Given the description of an element on the screen output the (x, y) to click on. 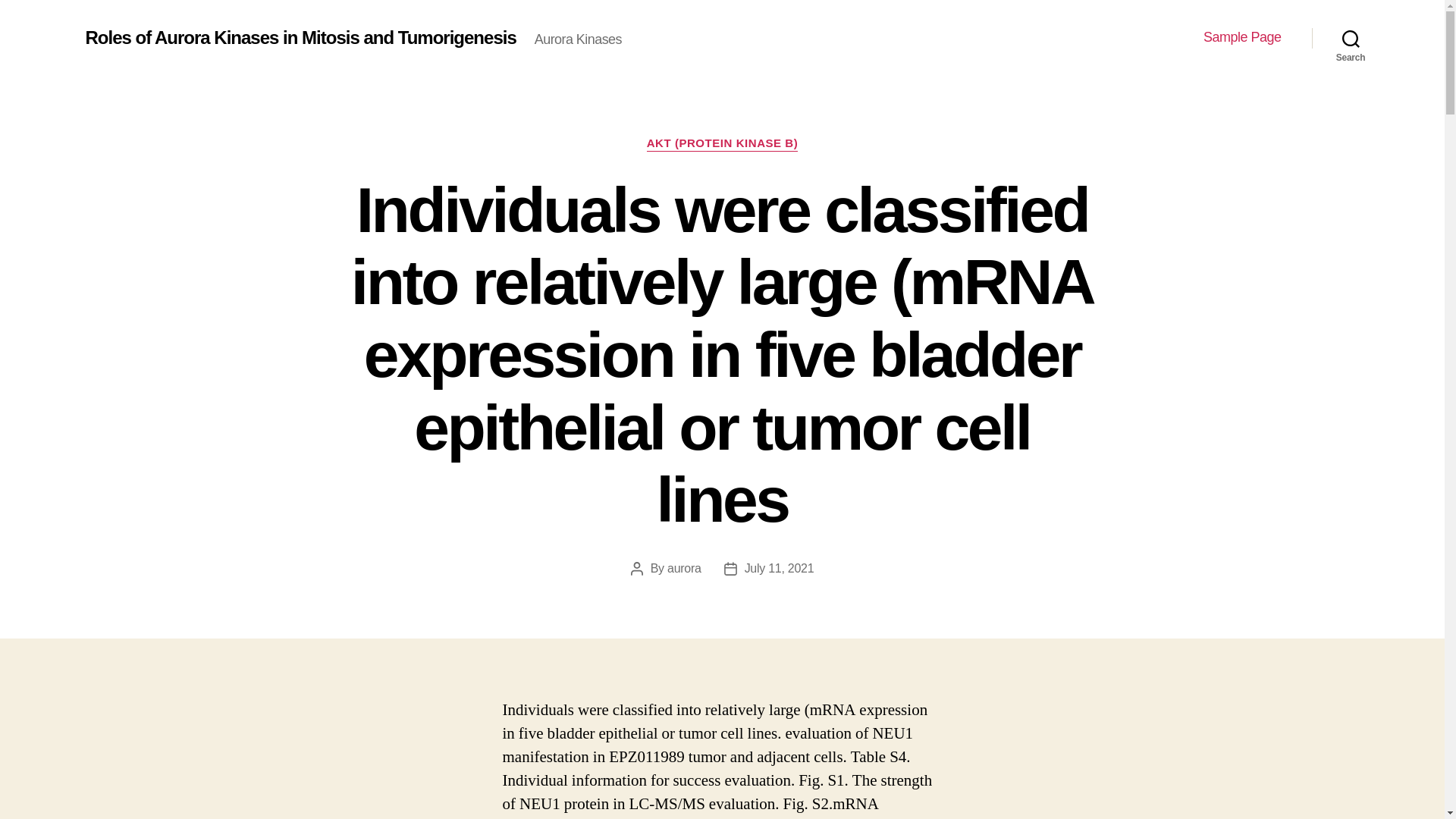
Search (1350, 37)
aurora (683, 567)
Sample Page (1242, 37)
July 11, 2021 (778, 567)
Roles of Aurora Kinases in Mitosis and Tumorigenesis (299, 37)
